Given the description of an element on the screen output the (x, y) to click on. 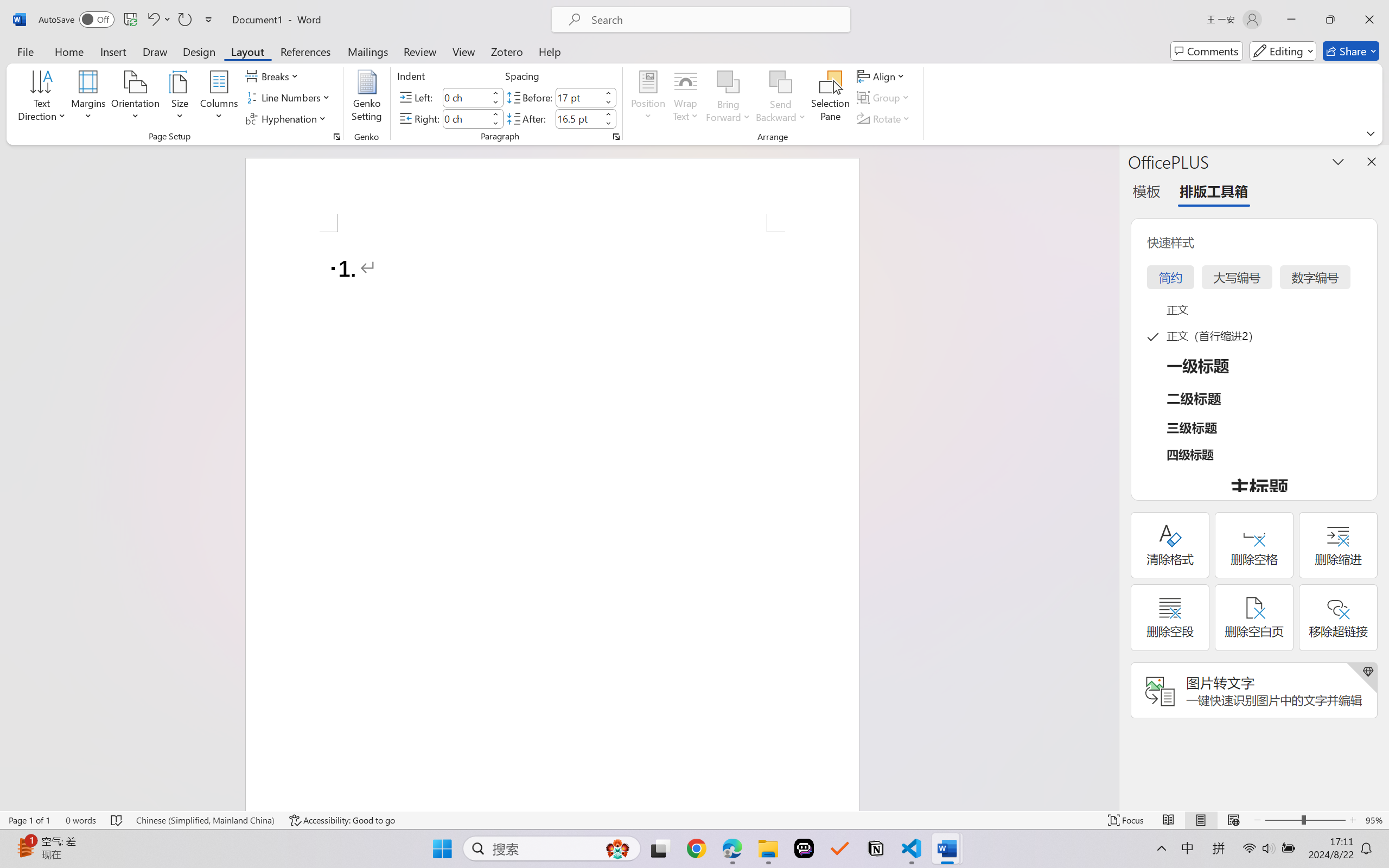
Undo Number Default (158, 19)
Send Backward (781, 97)
Language Chinese (Simplified, Mainland China) (205, 819)
More (608, 113)
Position (647, 97)
